Given the description of an element on the screen output the (x, y) to click on. 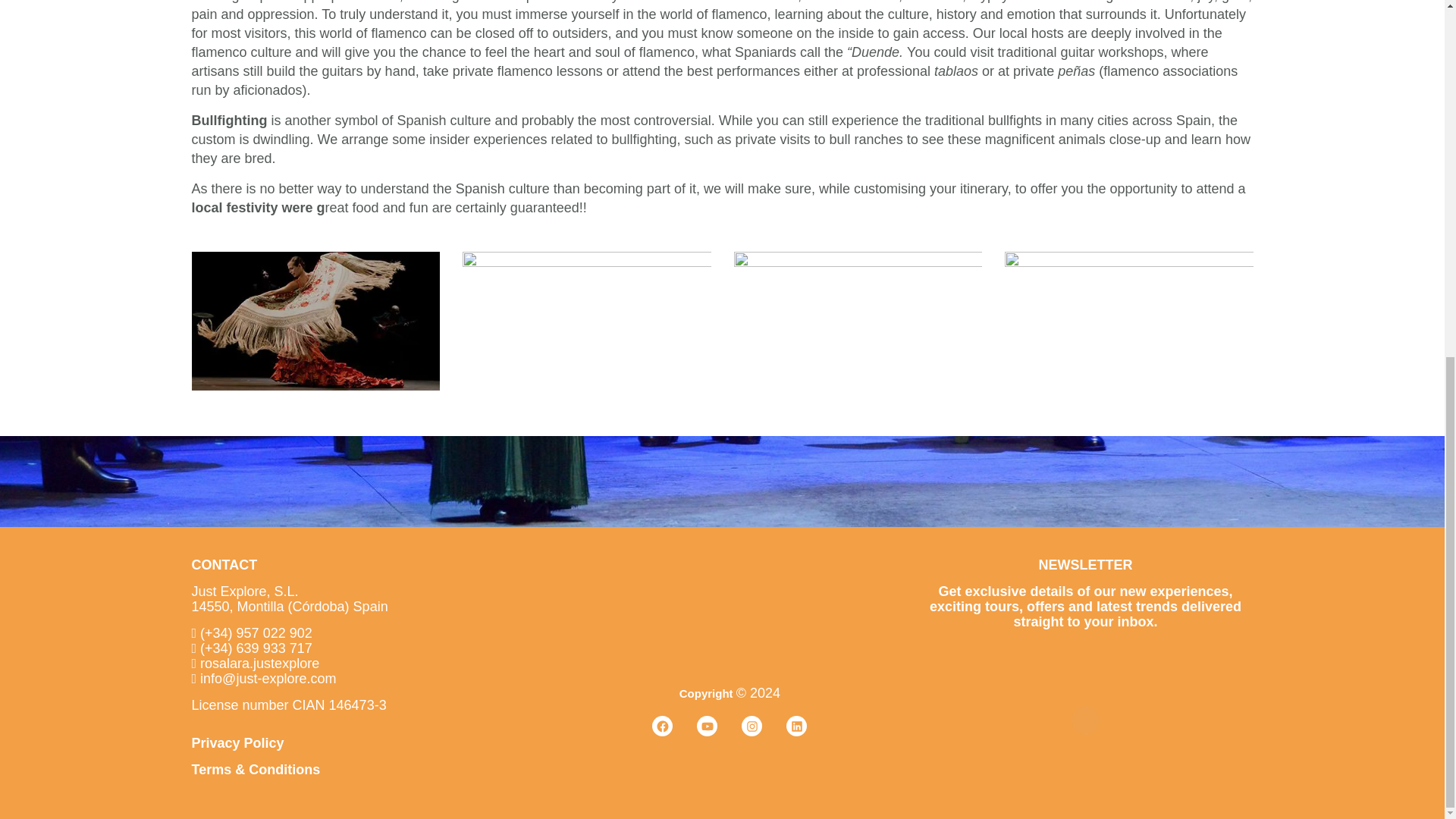
1 (314, 319)
LinkedIn (796, 725)
3 (857, 319)
4 (1128, 319)
2 (587, 319)
Instagram (751, 725)
Privacy Policy (236, 743)
YouTube (707, 725)
Facebook (662, 725)
